Given the description of an element on the screen output the (x, y) to click on. 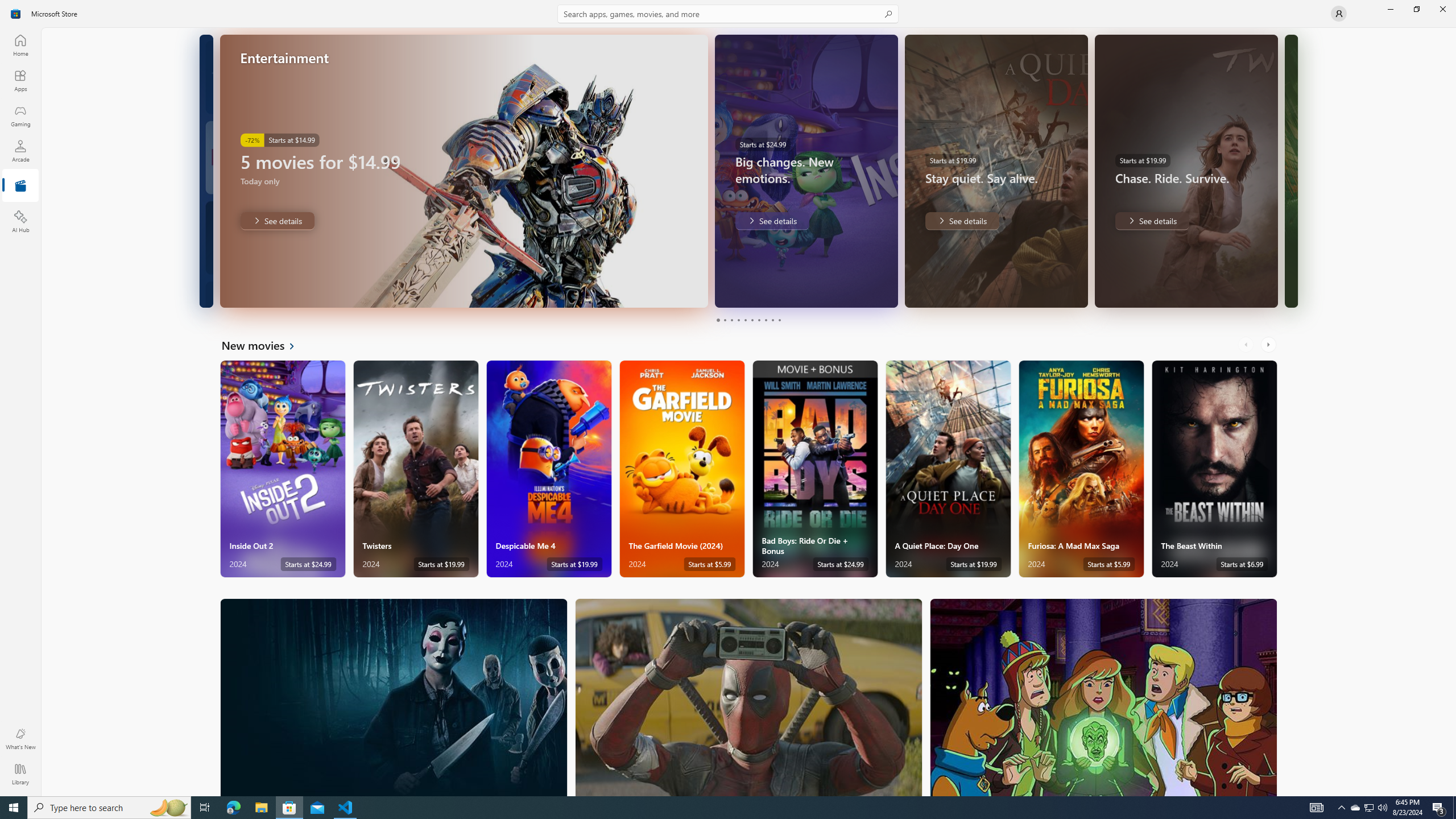
Unmute (691, 291)
Arcade (20, 150)
Page 10 (779, 319)
AutomationID: LeftScrollButton (1246, 344)
Minimize Microsoft Store (1390, 9)
AutomationID: NavigationControl (728, 398)
Page 3 (731, 319)
Play Trailer (668, 291)
Page 2 (724, 319)
Restore Microsoft Store (1416, 9)
Page 1 (717, 319)
The Beast Within. Starts at $6.99   (1213, 469)
